Given the description of an element on the screen output the (x, y) to click on. 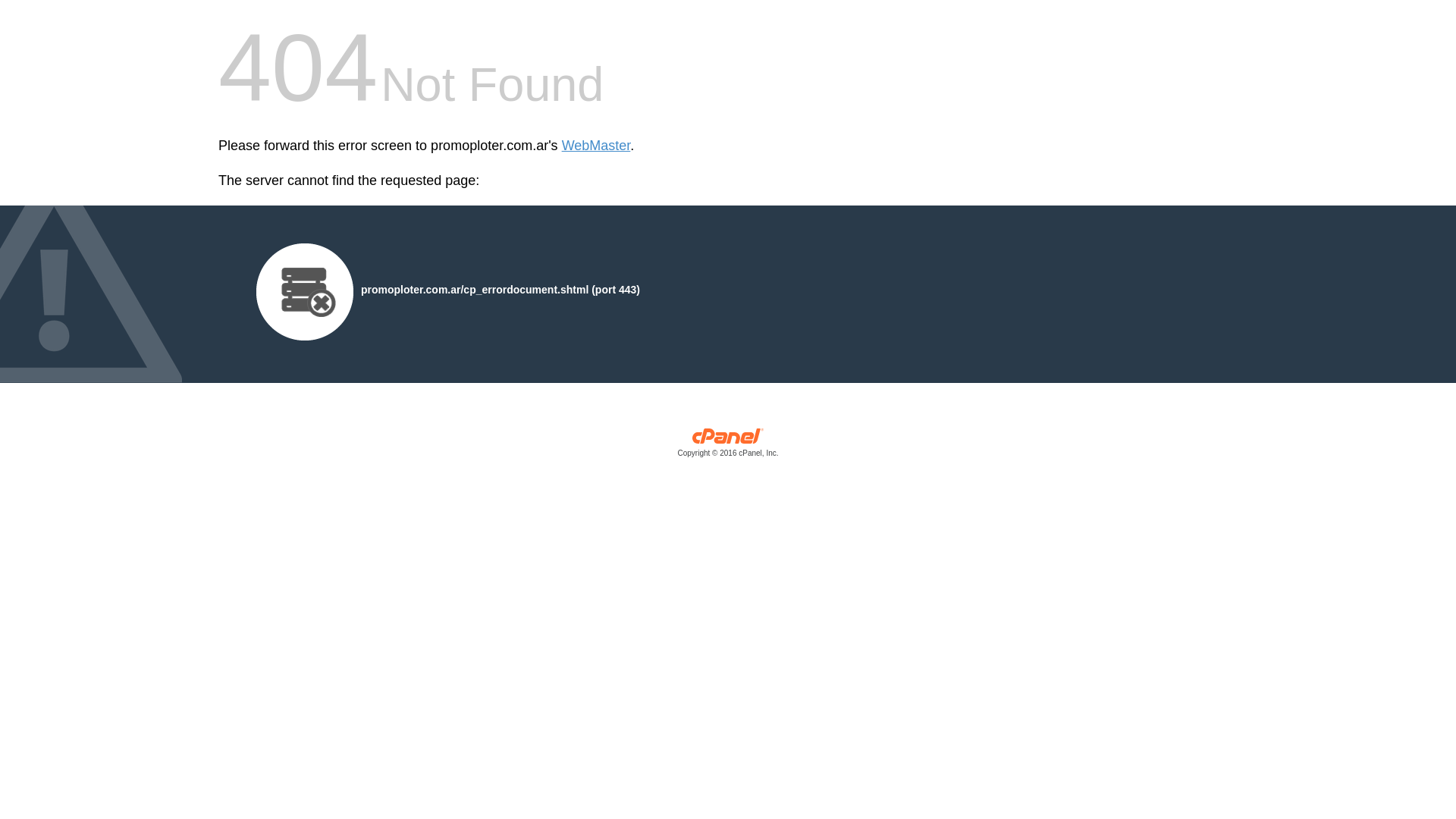
WebMaster (596, 145)
cPanel, Inc. (727, 446)
